Given the description of an element on the screen output the (x, y) to click on. 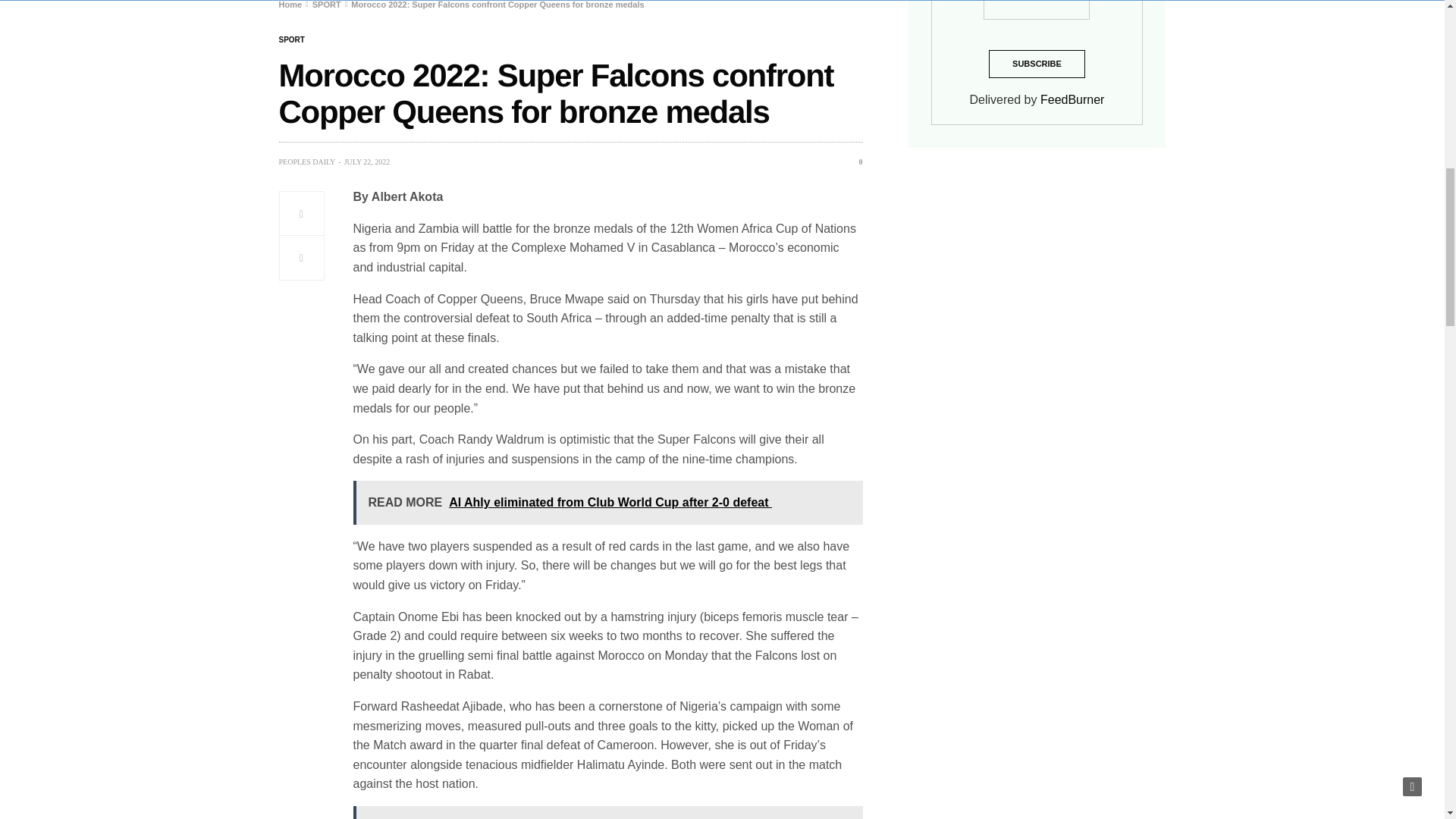
Subscribe (1036, 63)
SPORT (291, 40)
Posts by Peoples Daily (307, 162)
SPORT (326, 4)
Home (290, 4)
0 (855, 162)
SPORT (291, 40)
PEOPLES DAILY (307, 162)
